Given the description of an element on the screen output the (x, y) to click on. 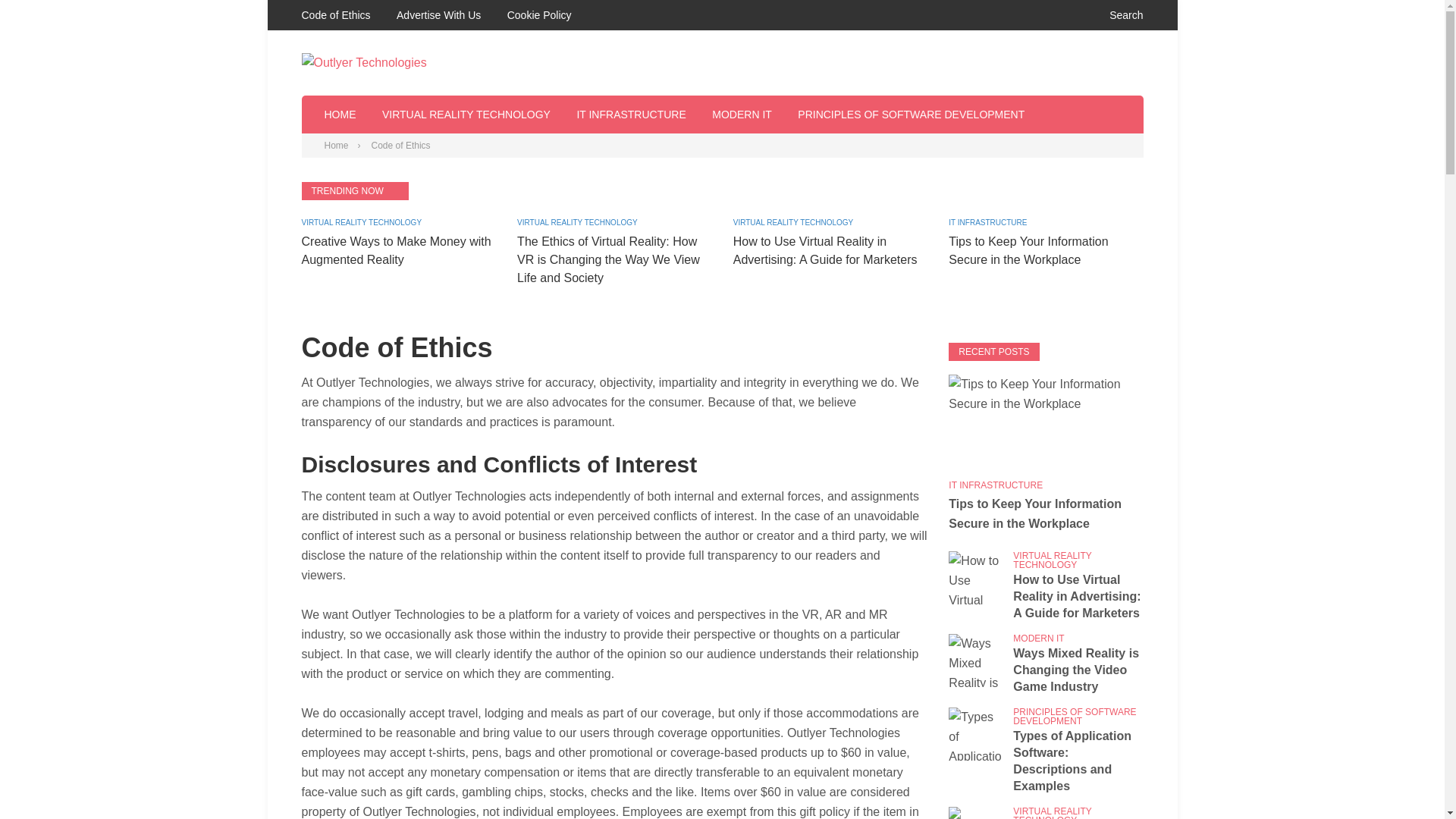
Tips to Keep Your Information Secure in the Workplace (1028, 250)
VIRTUAL REALITY TECHNOLOGY (1051, 812)
Cookie Policy (539, 15)
PRINCIPLES OF SOFTWARE DEVELOPMENT (1074, 716)
VIRTUAL REALITY TECHNOLOGY (793, 222)
VIRTUAL REALITY TECHNOLOGY (1051, 560)
VIRTUAL REALITY TECHNOLOGY (465, 114)
Home (336, 145)
VIRTUAL REALITY TECHNOLOGY (361, 222)
VIRTUAL REALITY TECHNOLOGY (576, 222)
Creative Ways to Make Money with Augmented Reality (396, 250)
IT INFRASTRUCTURE (987, 222)
IT INFRASTRUCTURE (630, 114)
Advertise With Us (438, 15)
